Given the description of an element on the screen output the (x, y) to click on. 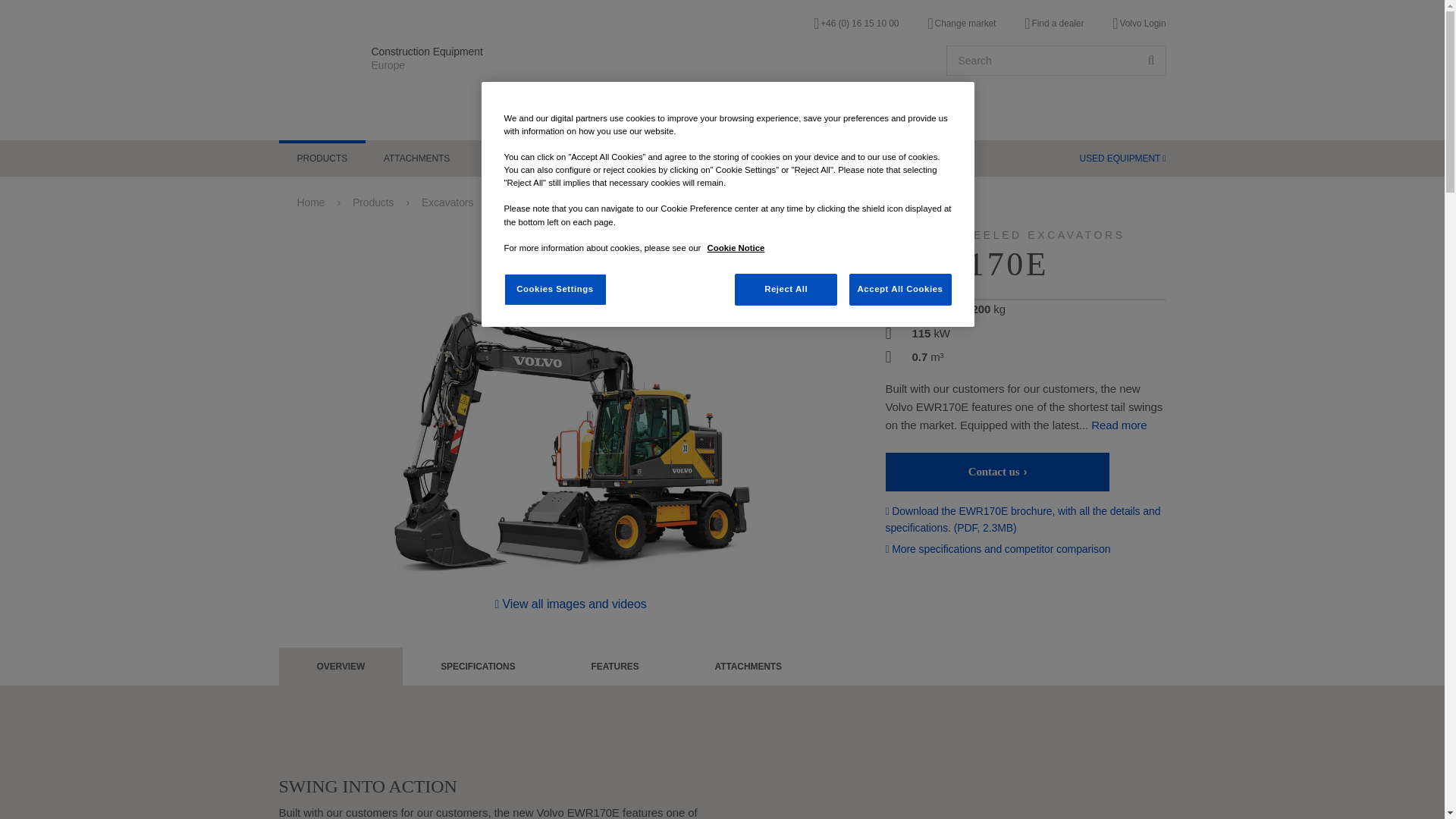
PRODUCTS (322, 158)
Find a dealer (1054, 23)
Change market (961, 23)
search (1151, 60)
ATTACHMENTS (416, 158)
Volvo Login (1139, 23)
Contact Us (997, 471)
Volvo Login (1139, 23)
YouTube Video Player (949, 760)
